Given the description of an element on the screen output the (x, y) to click on. 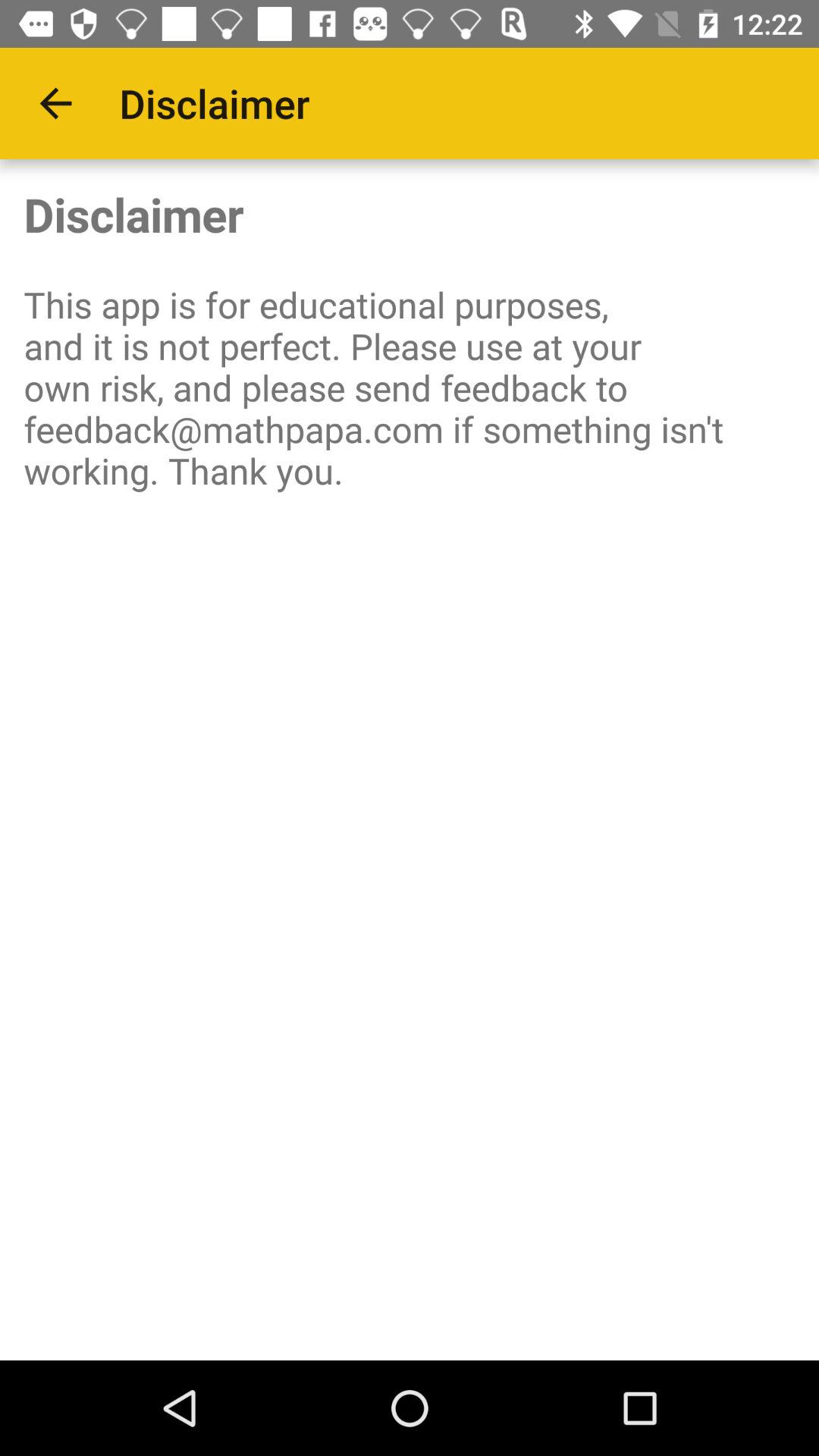
open the item to the left of disclaimer icon (55, 103)
